Given the description of an element on the screen output the (x, y) to click on. 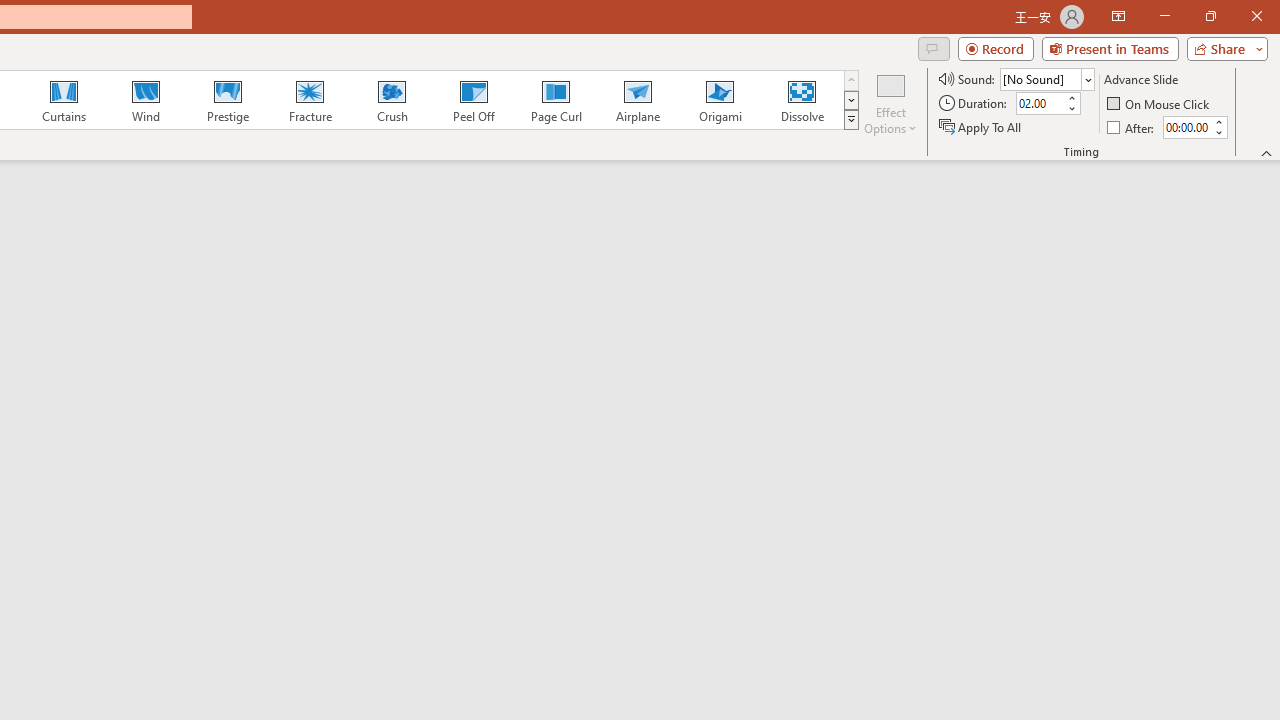
Transition Effects (850, 120)
After (1131, 126)
On Mouse Click (1159, 103)
Peel Off (473, 100)
Sound (1046, 78)
Effect Options (890, 102)
Less (1218, 132)
Wind (145, 100)
Duration (1039, 103)
